Given the description of an element on the screen output the (x, y) to click on. 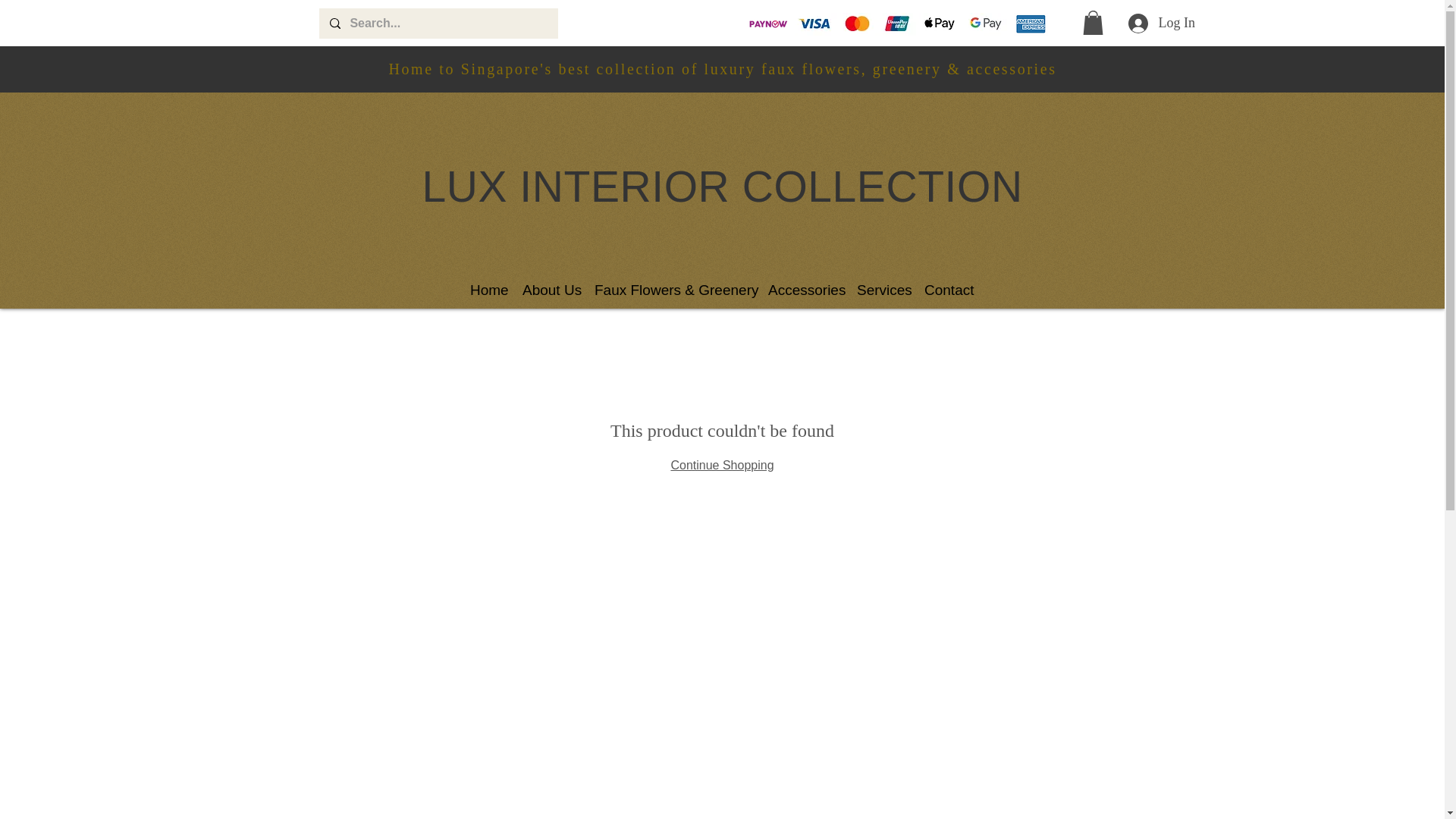
Log In (1148, 23)
Services (882, 288)
Home (489, 288)
Accessories (804, 288)
Continue Shopping (721, 464)
Contact (949, 288)
About Us (550, 288)
